Given the description of an element on the screen output the (x, y) to click on. 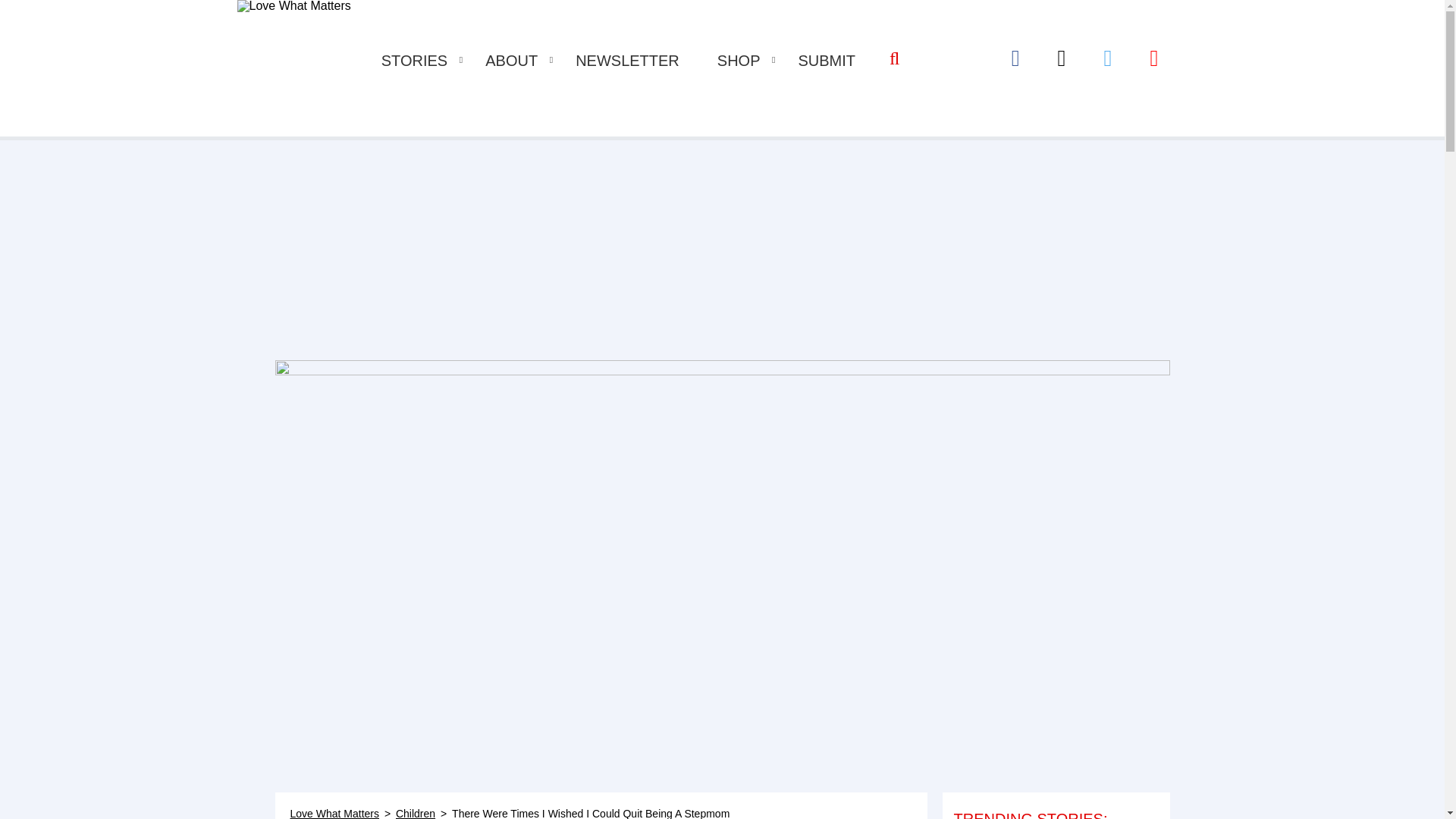
STORIES (414, 60)
SHOP (738, 60)
NEWSLETTER (627, 60)
SUBMIT (826, 60)
ABOUT (511, 60)
